Given the description of an element on the screen output the (x, y) to click on. 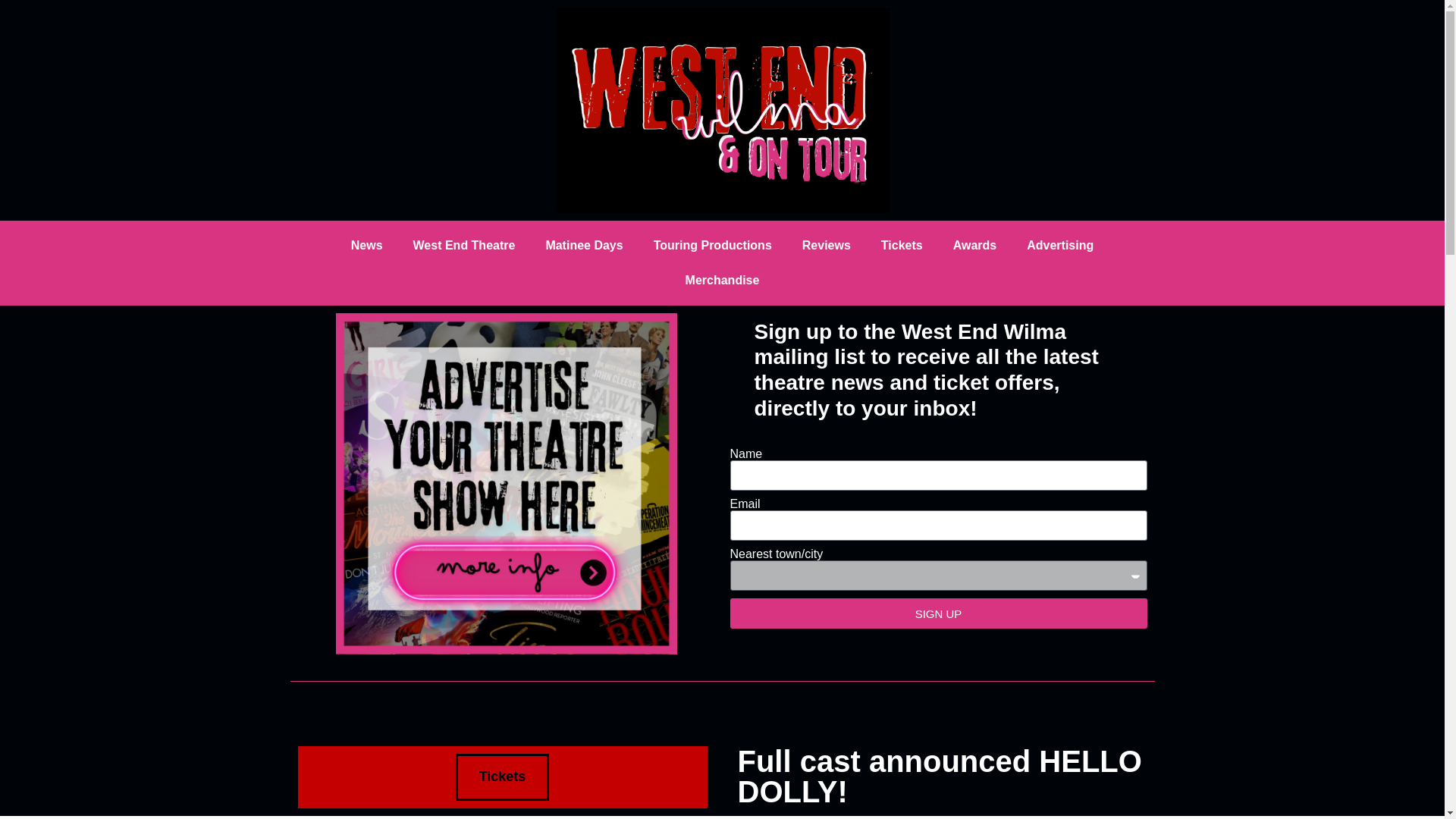
Awards (974, 245)
Tickets (502, 776)
News (366, 245)
Tickets (901, 245)
Touring Productions (713, 245)
Matinee Days (583, 245)
Merchandise (721, 280)
Reviews (826, 245)
SIGN UP (938, 613)
Advertising (1059, 245)
West End Theatre (464, 245)
